Given the description of an element on the screen output the (x, y) to click on. 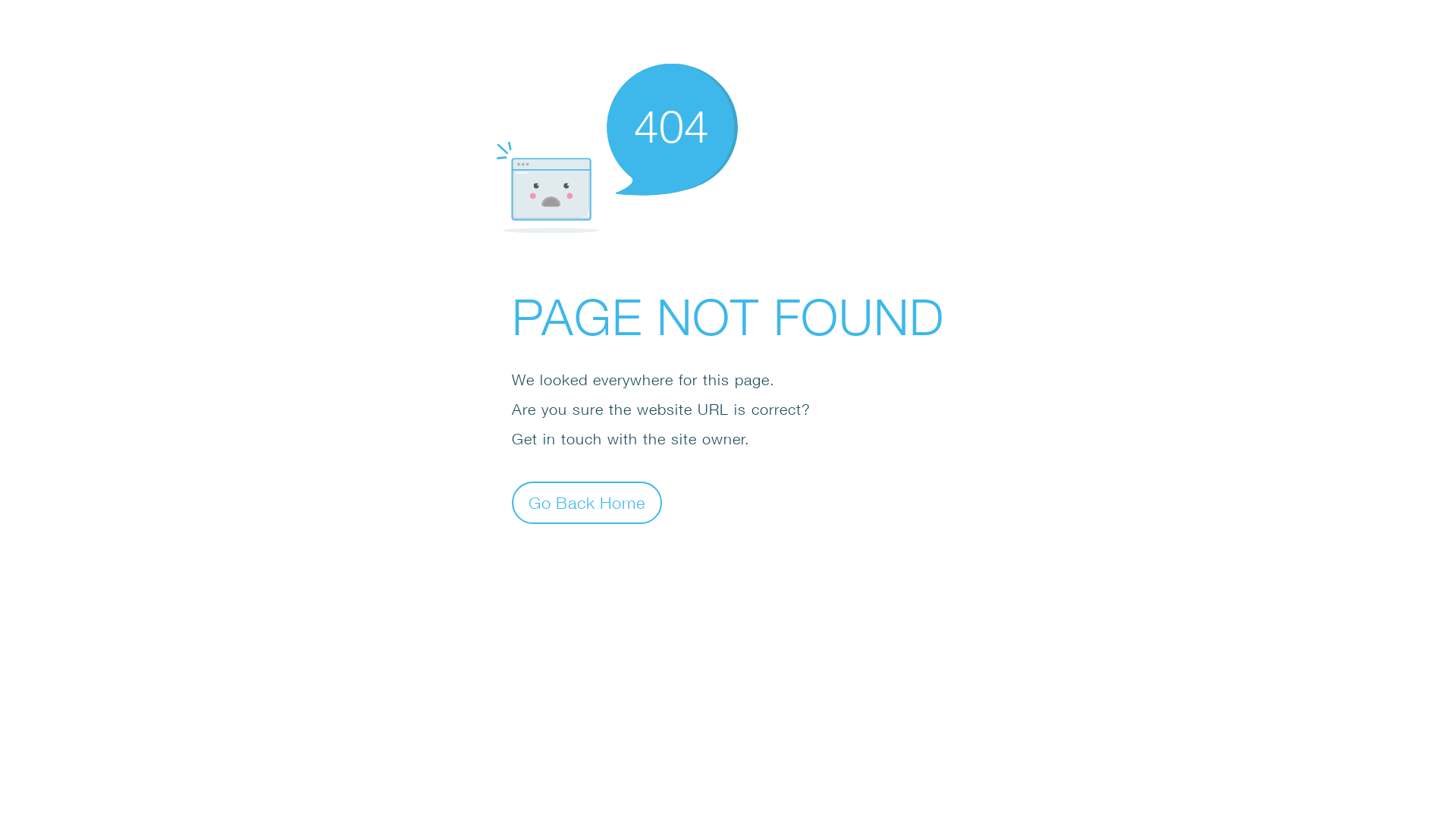
Go Back Home Element type: text (586, 502)
